Given the description of an element on the screen output the (x, y) to click on. 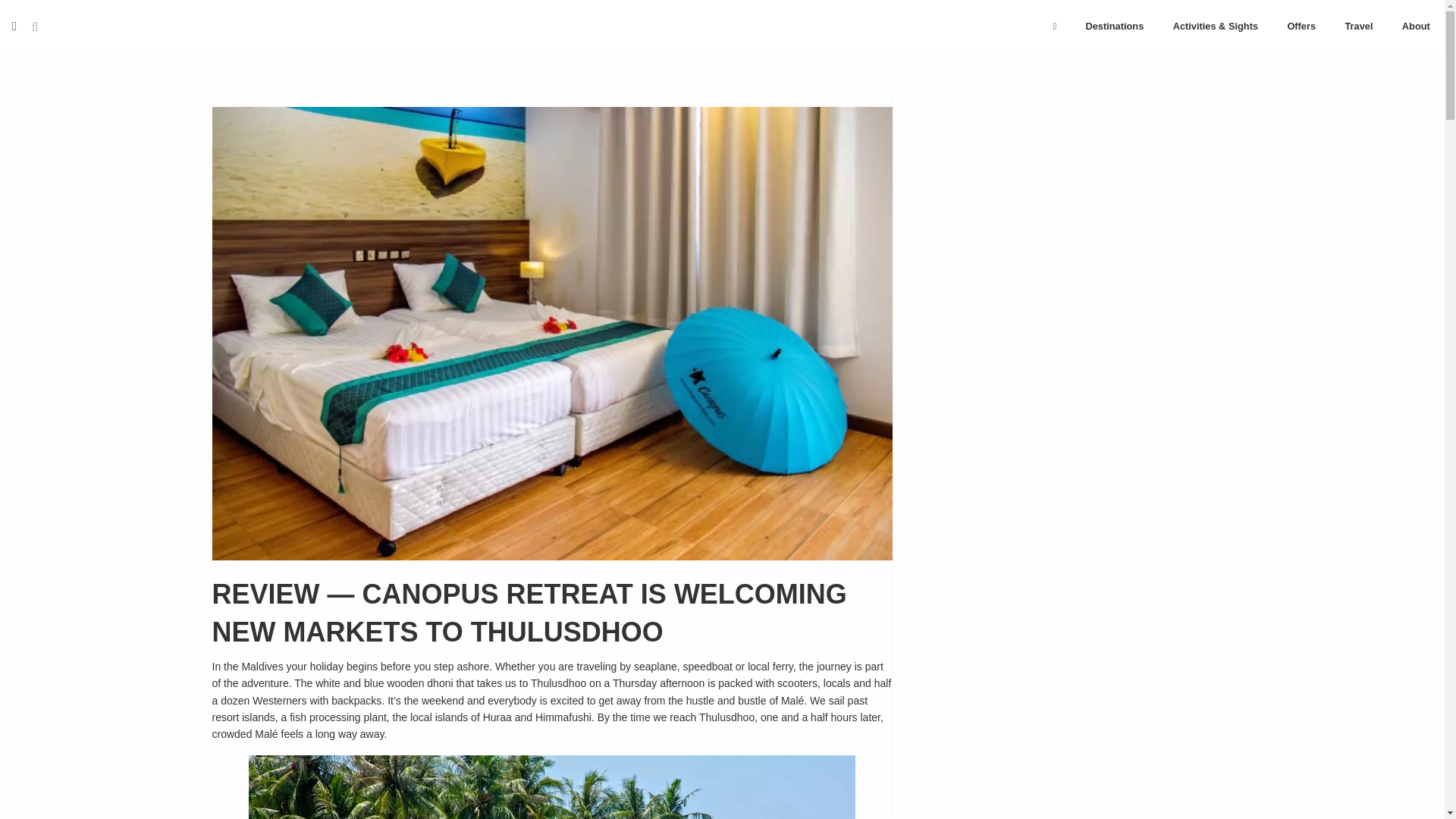
Destinations (1113, 26)
